Given the description of an element on the screen output the (x, y) to click on. 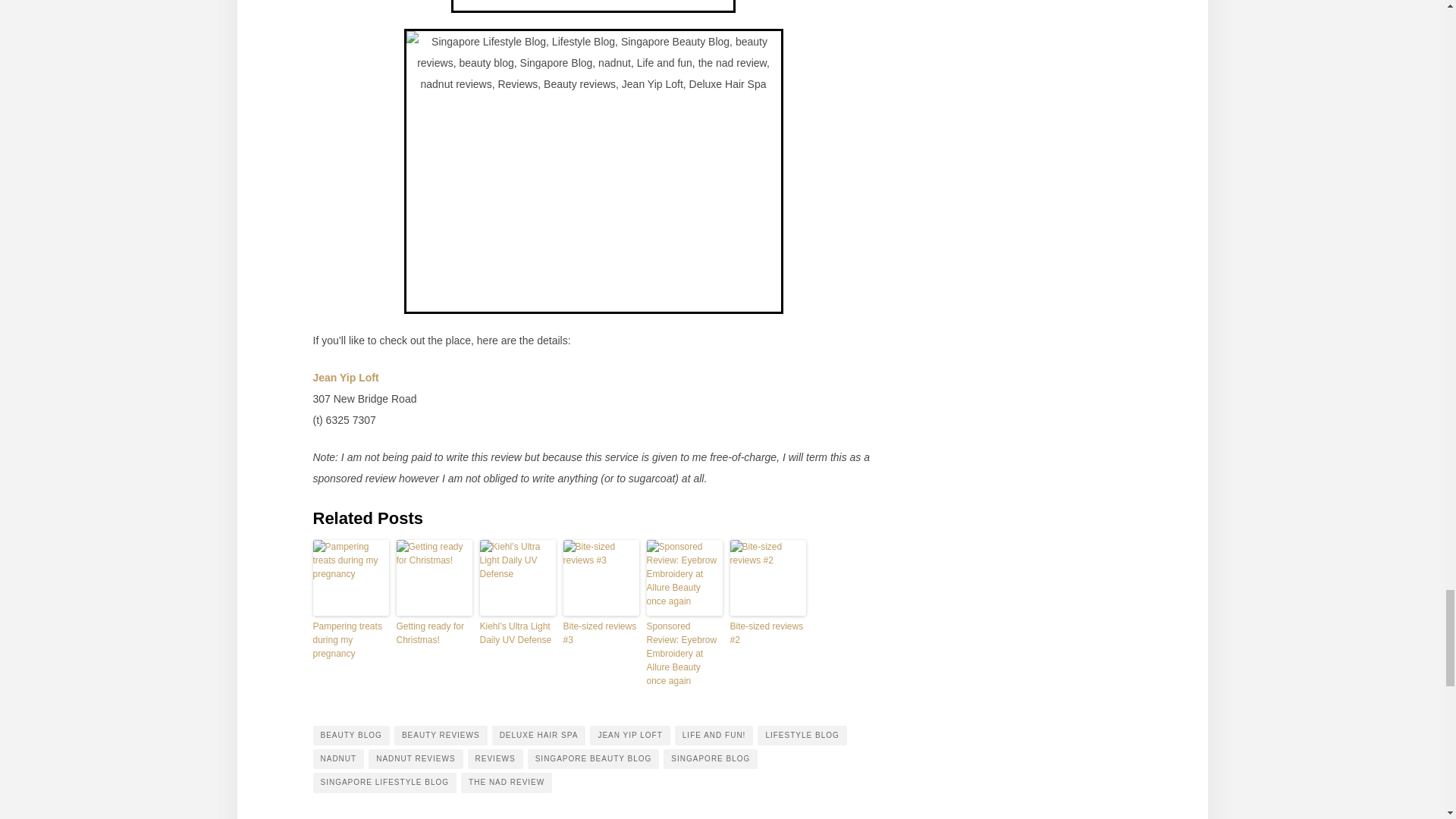
Jean Yip Loft (345, 377)
Pampering treats during my pregnancy (350, 639)
Getting ready for Christmas! (433, 633)
